Given the description of an element on the screen output the (x, y) to click on. 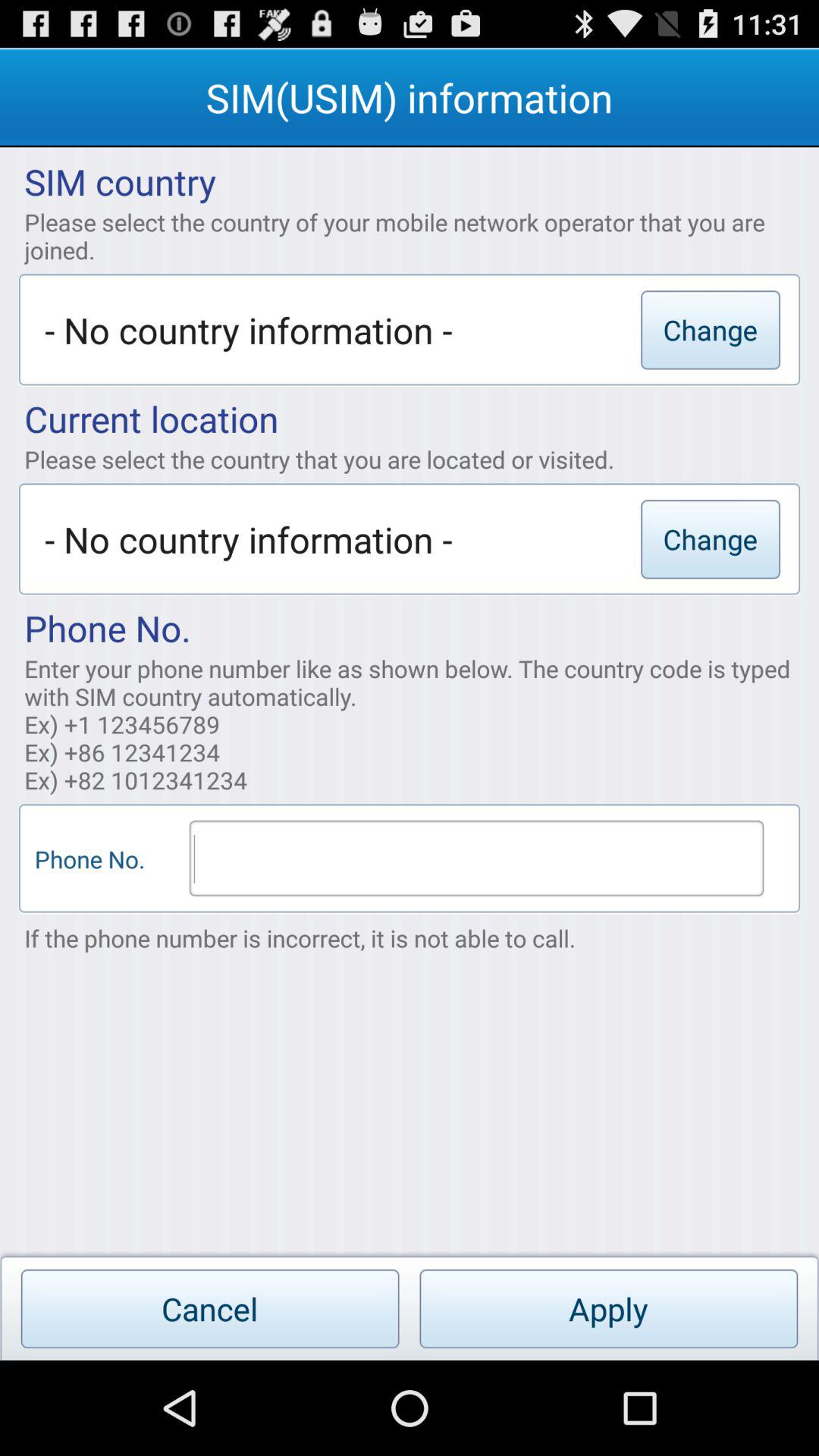
launch button next to cancel button (608, 1309)
